Given the description of an element on the screen output the (x, y) to click on. 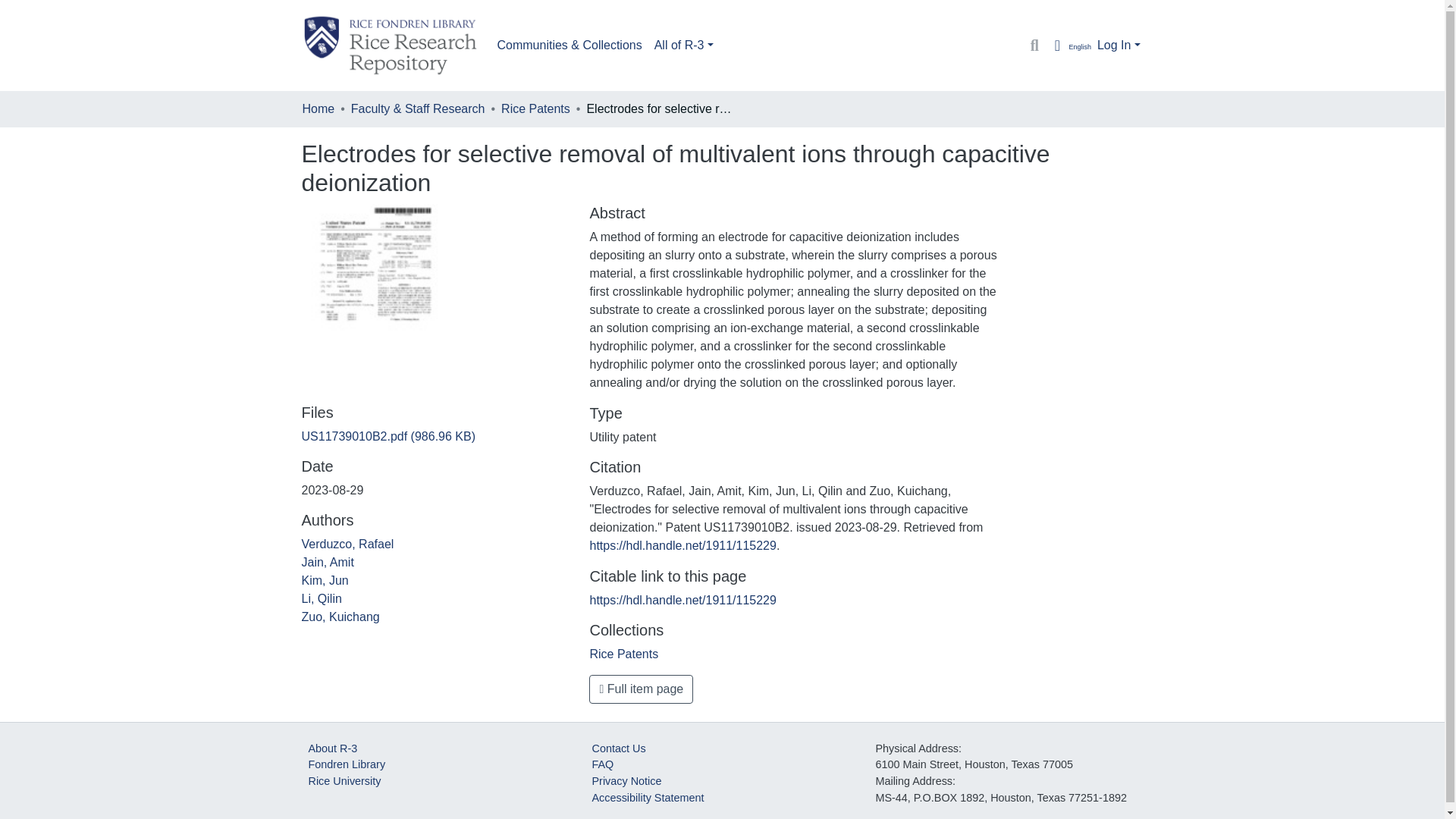
Rice University (343, 780)
Full item page (641, 688)
Li, Qilin (321, 598)
Contact Us (618, 748)
English (1069, 45)
Search (1035, 45)
Zuo, Kuichang (340, 616)
Rice Patents (535, 108)
Kim, Jun (325, 580)
Accessibility Statement (647, 797)
